Given the description of an element on the screen output the (x, y) to click on. 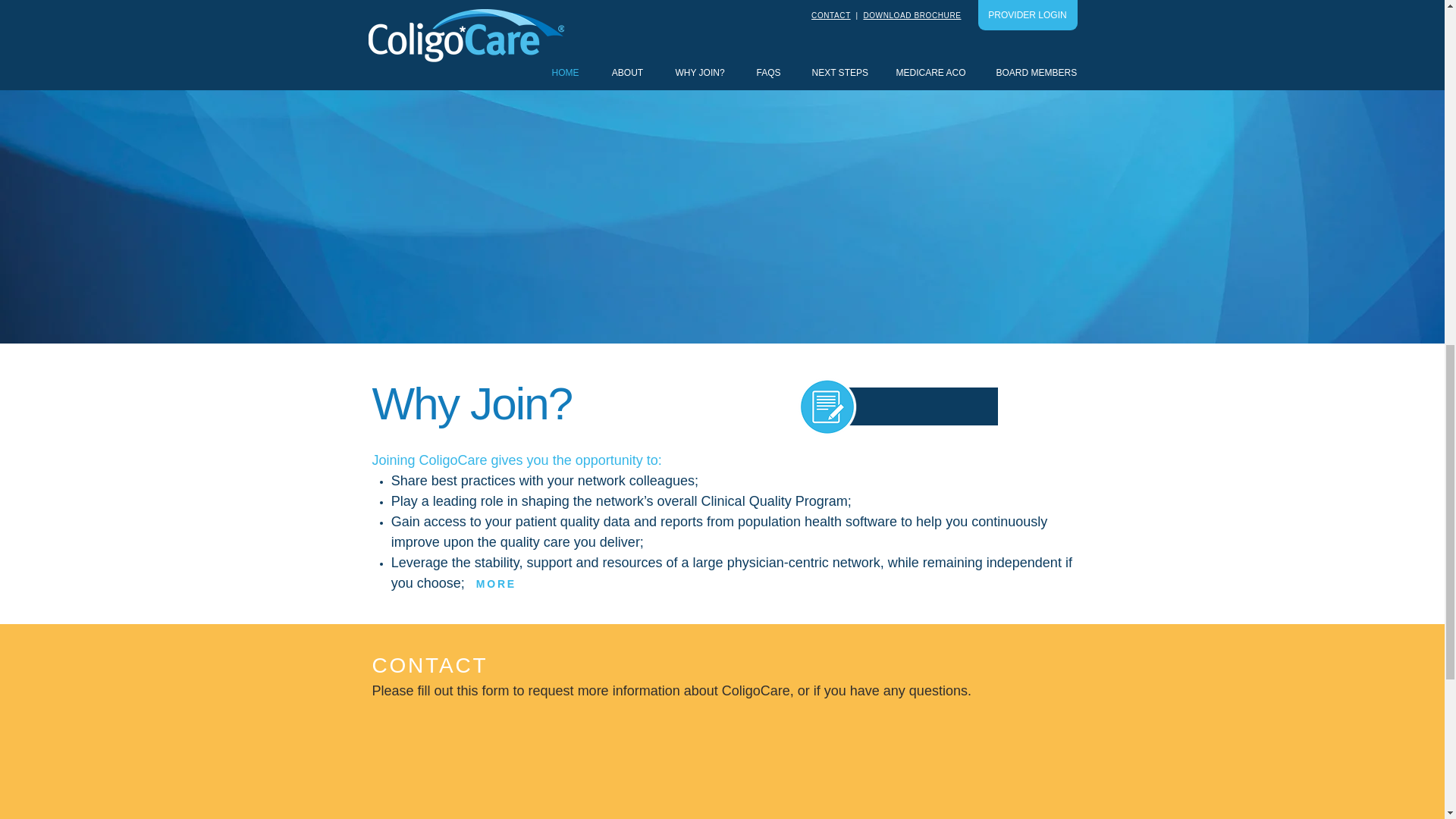
MORE (496, 582)
